Given the description of an element on the screen output the (x, y) to click on. 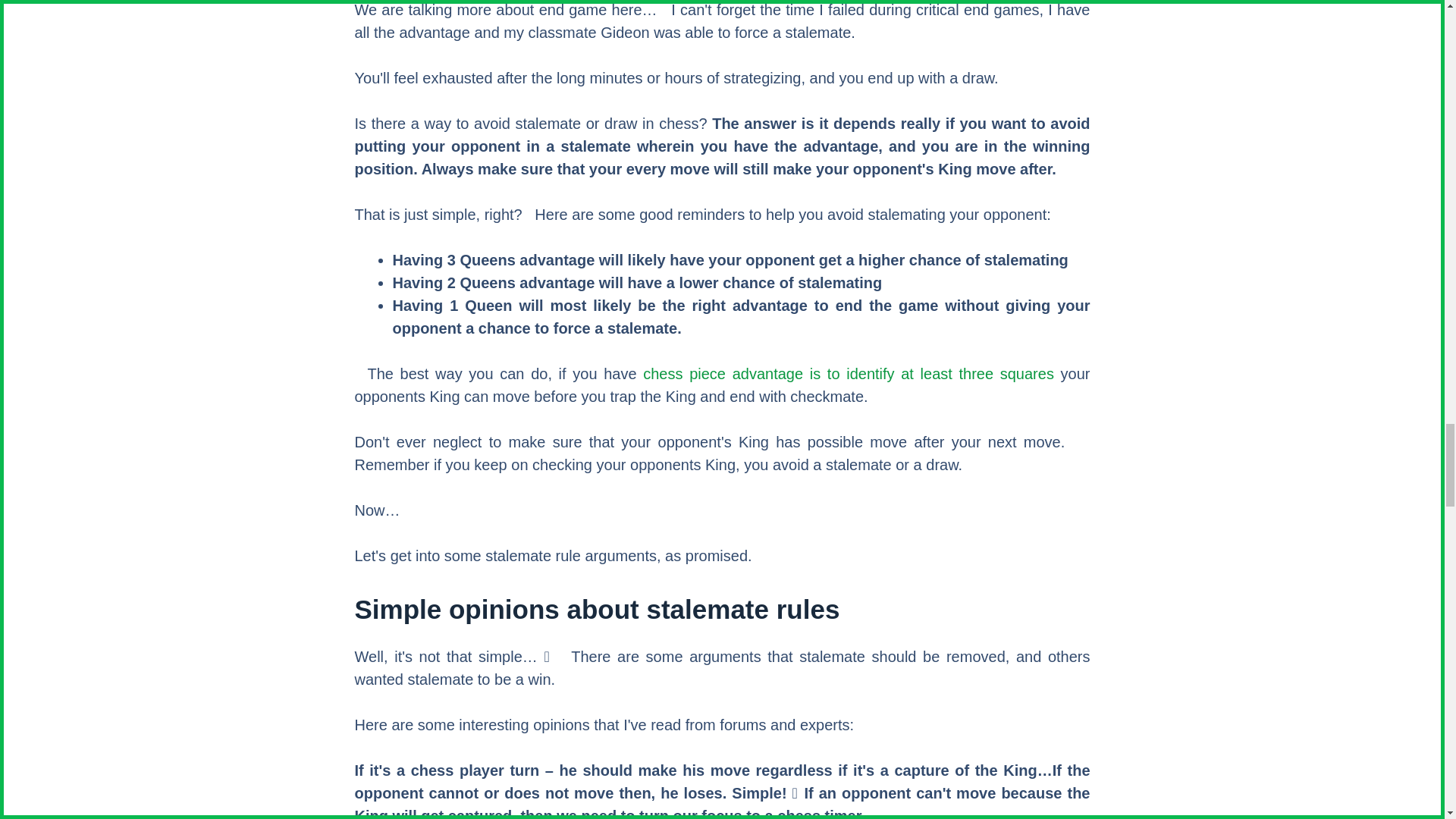
chess piece advantage is to identify at least three squares (848, 373)
